Given the description of an element on the screen output the (x, y) to click on. 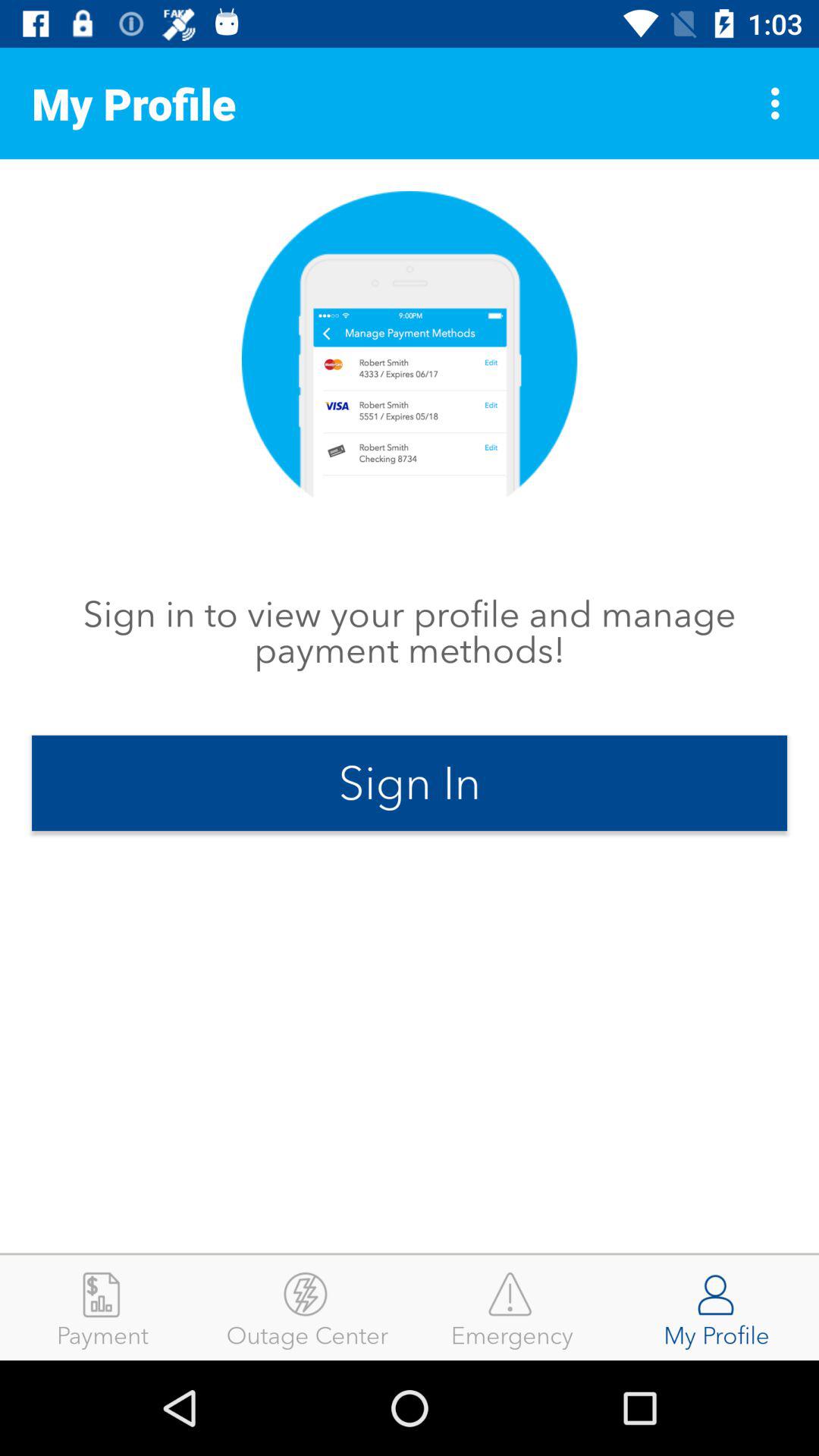
launch item next to payment (306, 1307)
